Given the description of an element on the screen output the (x, y) to click on. 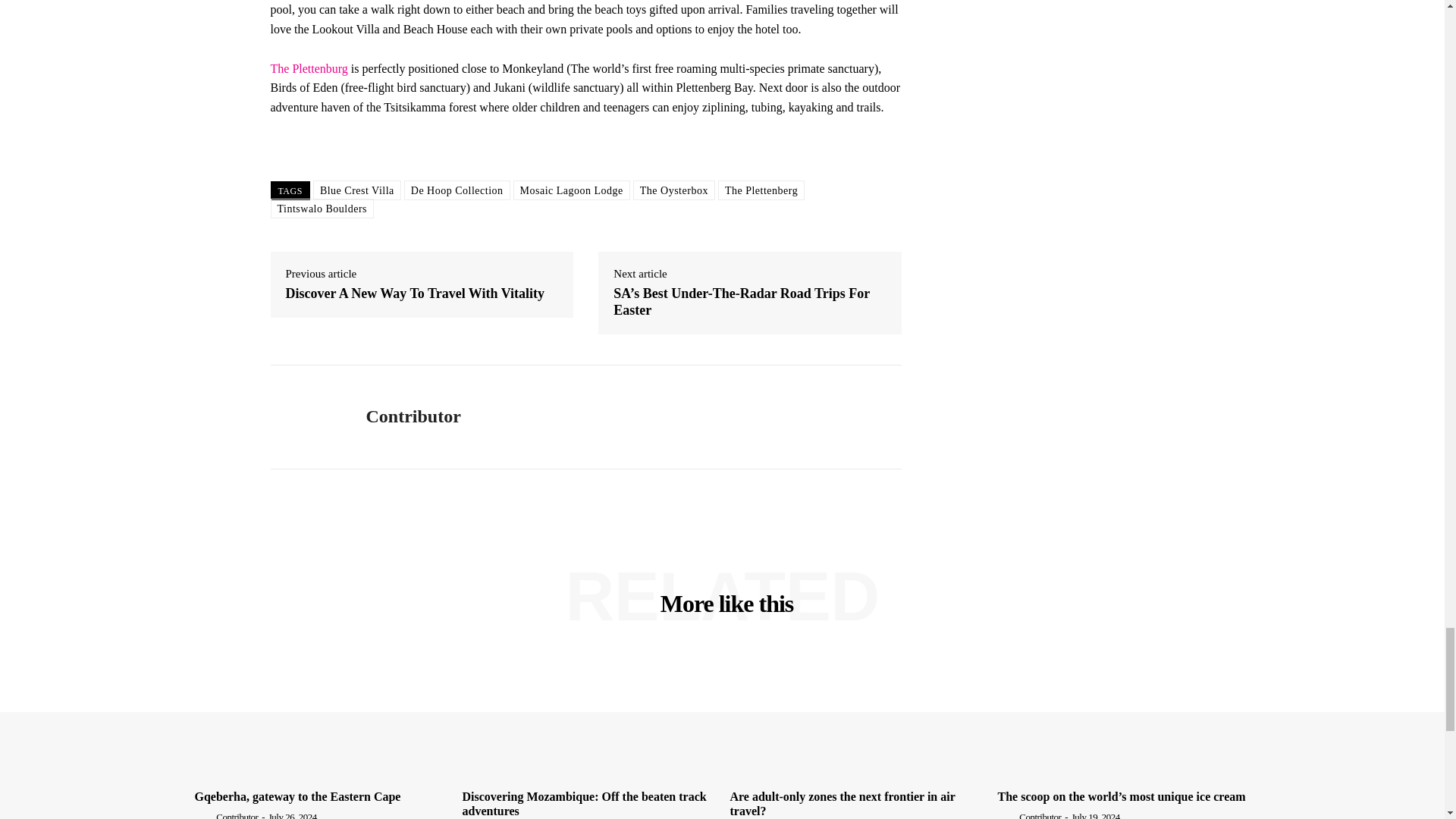
Blue Crest Villa (357, 189)
Contributor (305, 416)
The Plettenburg (308, 68)
De Hoop Collection (457, 189)
